Given the description of an element on the screen output the (x, y) to click on. 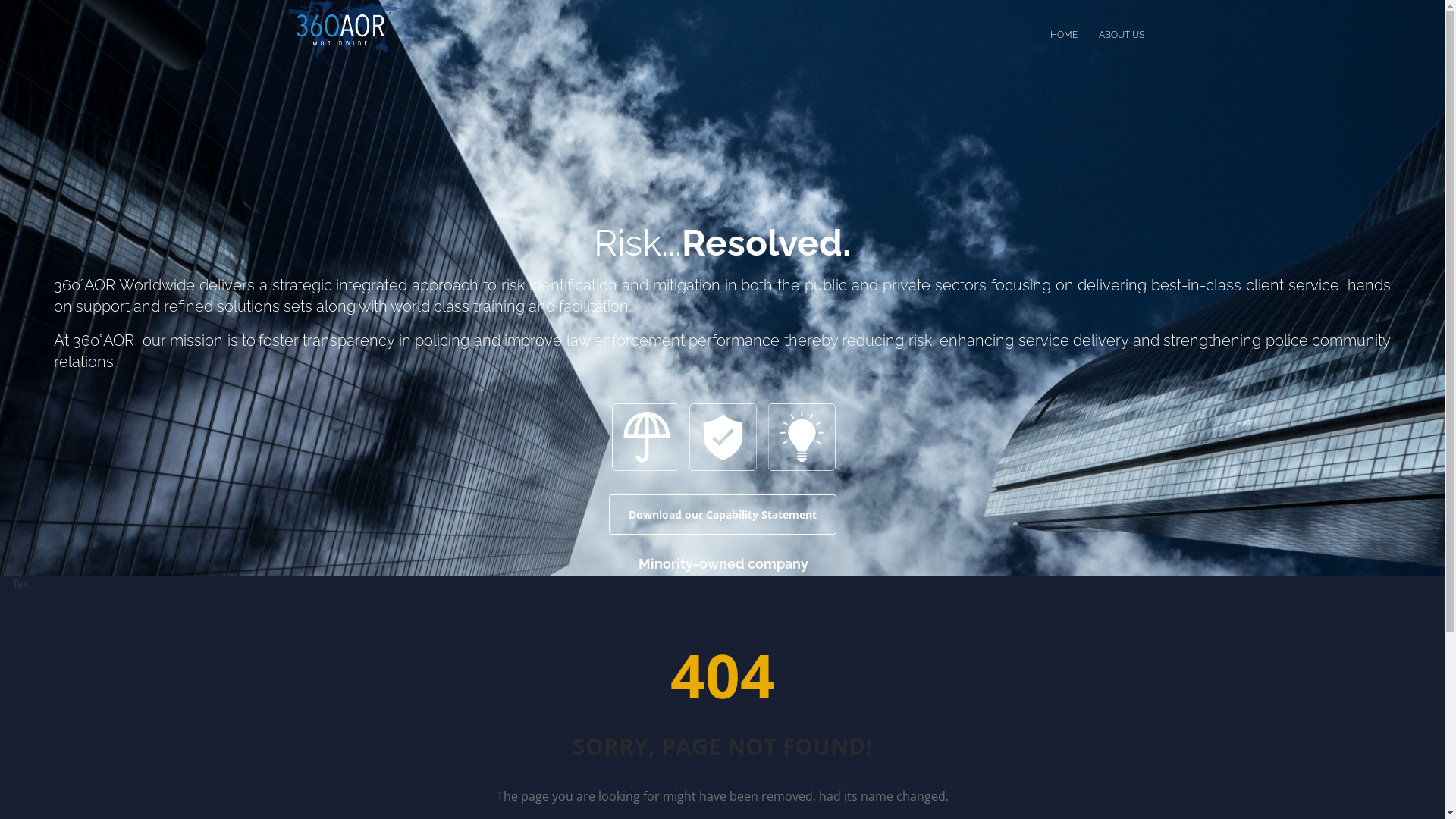
ABOUT US Element type: text (1120, 34)
HOME Element type: text (1062, 34)
Download our Capability Statement Element type: text (721, 514)
